Given the description of an element on the screen output the (x, y) to click on. 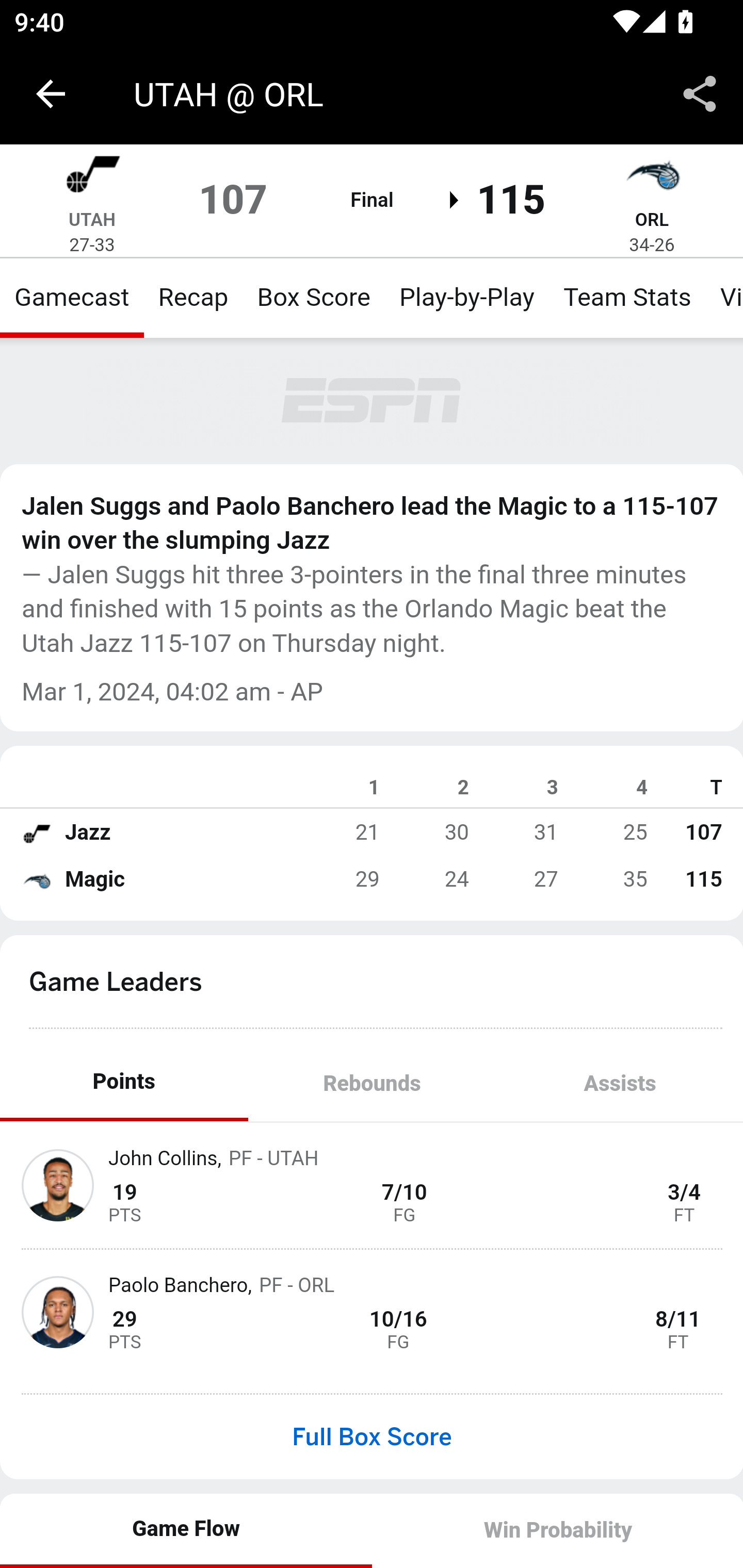
Navigate up (50, 93)
Share (699, 93)
Utah Jazz (91, 177)
Orlando Magic (651, 177)
UTAH (91, 219)
ORL (651, 219)
Gamecast (72, 296)
Recap (192, 296)
Box Score (314, 296)
Play-by-Play (466, 296)
Team Stats (627, 296)
Advertisement (372, 401)
Utah Jazz (36, 832)
Orlando Magic (36, 879)
Points (124, 1084)
Rebounds (371, 1084)
Assists (618, 1084)
Full Box Score (371, 1436)
Game Flow (186, 1528)
Win Probability (557, 1529)
